Given the description of an element on the screen output the (x, y) to click on. 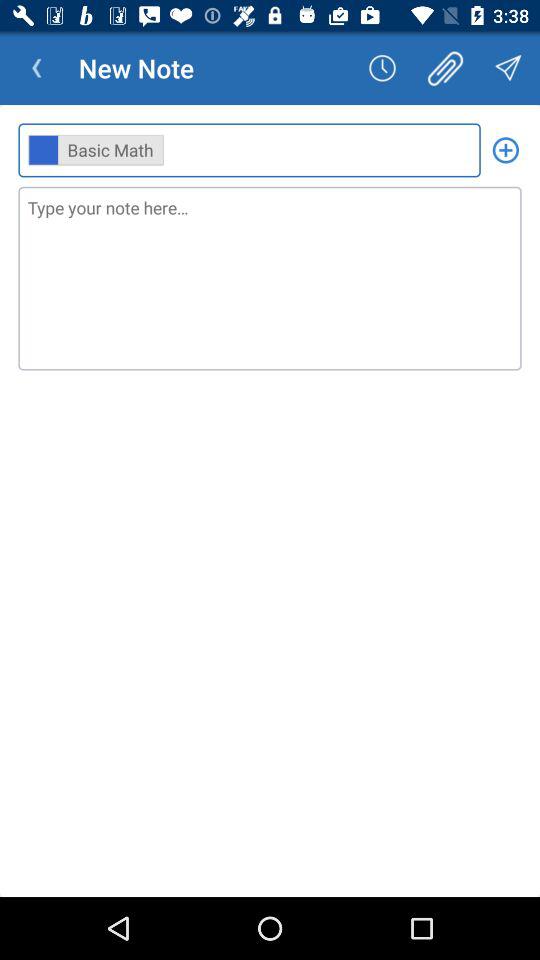
add new note (505, 150)
